Given the description of an element on the screen output the (x, y) to click on. 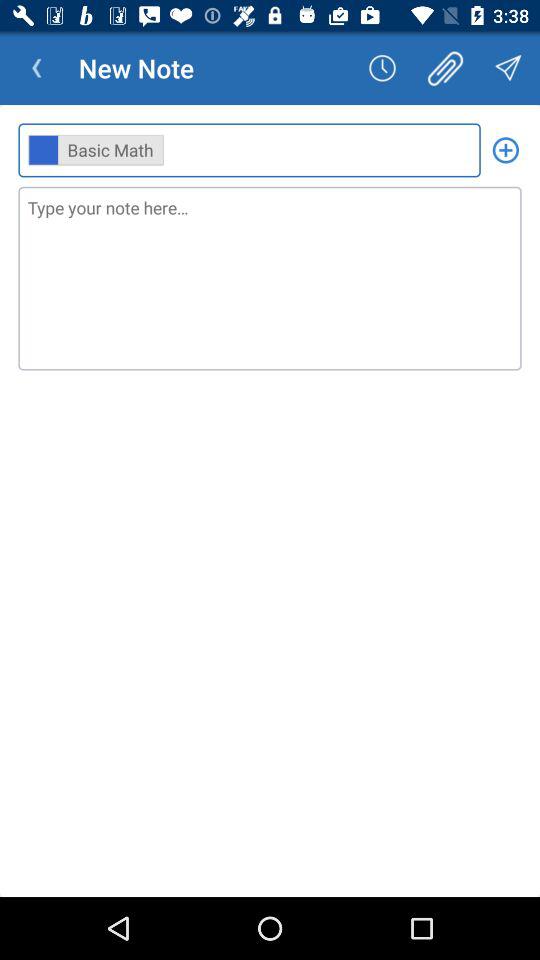
add new note (505, 150)
